Given the description of an element on the screen output the (x, y) to click on. 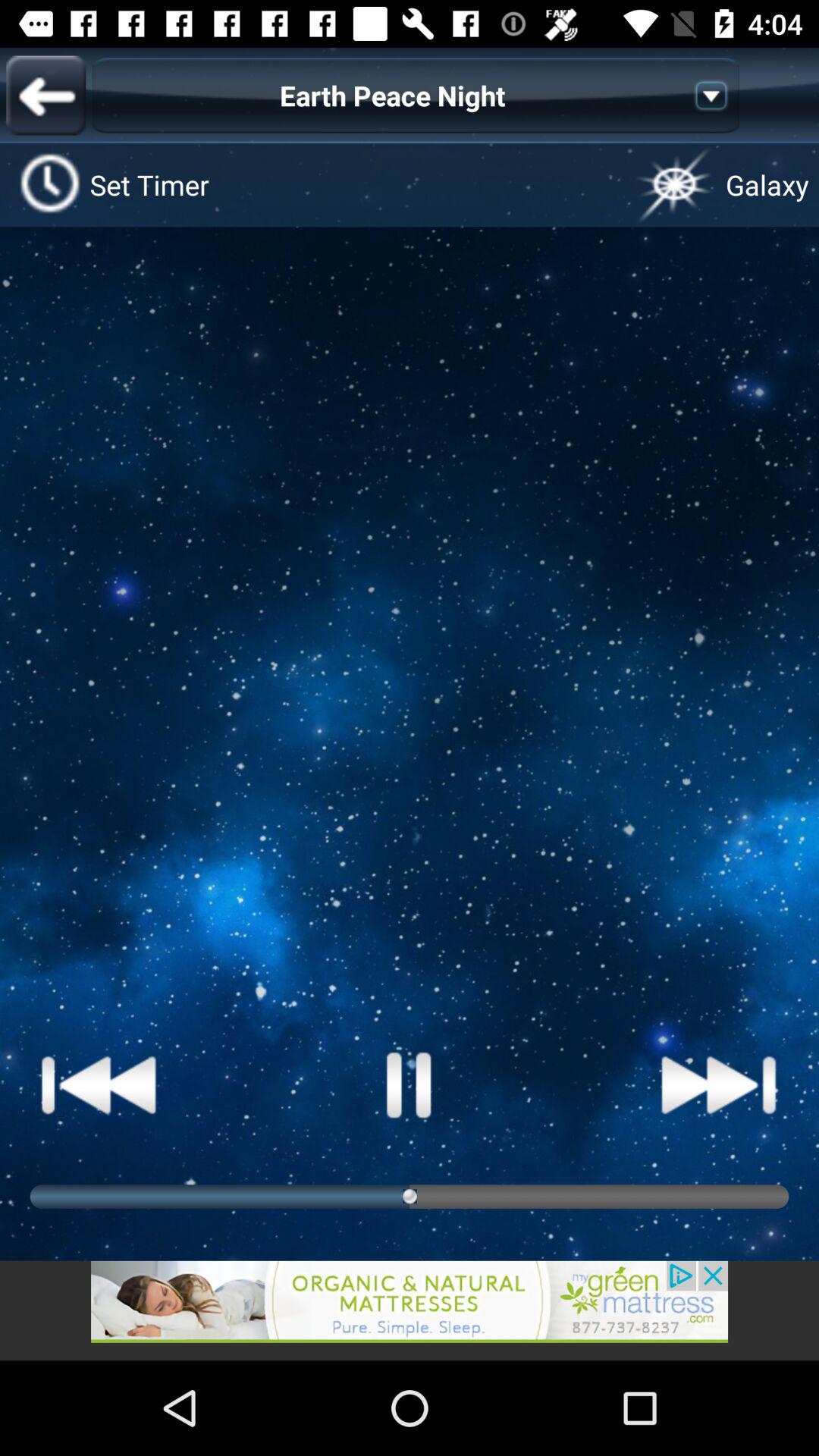
advertisement page (409, 1310)
